Given the description of an element on the screen output the (x, y) to click on. 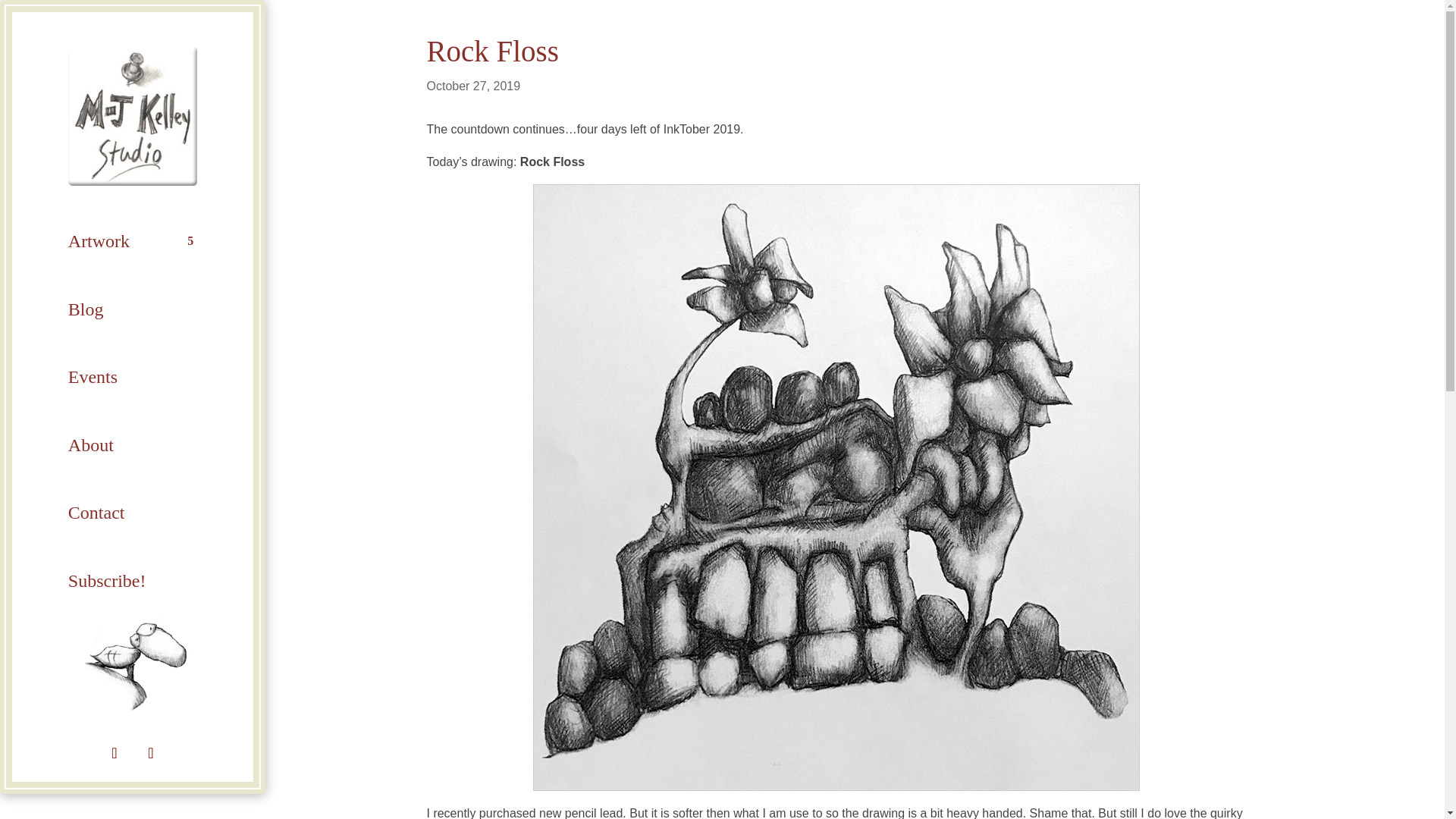
Follow on Instagram (150, 752)
Subscribe! (132, 580)
About (132, 444)
Artwork (132, 240)
Events (132, 376)
Follow on Facebook (114, 752)
Blog (132, 308)
M-J Kelley - Horseshoe the Lucky Turtle (133, 664)
Contact (132, 512)
